Given the description of an element on the screen output the (x, y) to click on. 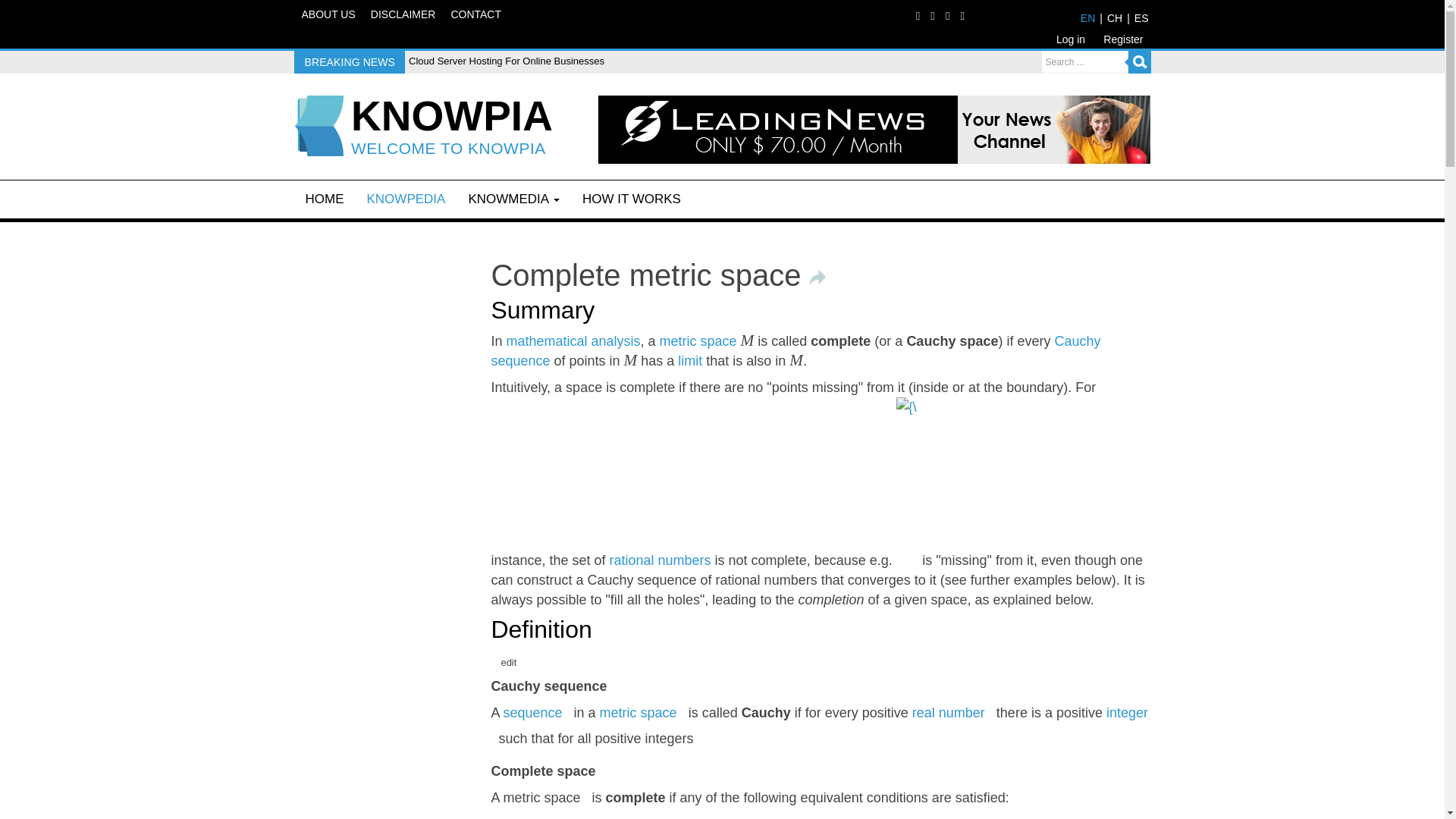
EN (1087, 18)
Rational number (660, 560)
Metric space (697, 340)
Cauchy sequence (795, 350)
ERANEWS (451, 116)
KNOWPEDIA (406, 199)
Limit of a sequence (689, 360)
Square root of 2 (907, 560)
CONTACT (475, 15)
Sequence (532, 712)
Integer (1127, 712)
Mathematical analysis (572, 340)
KNOWPIA (451, 116)
DISCLAIMER (403, 15)
Real number (948, 712)
